Given the description of an element on the screen output the (x, y) to click on. 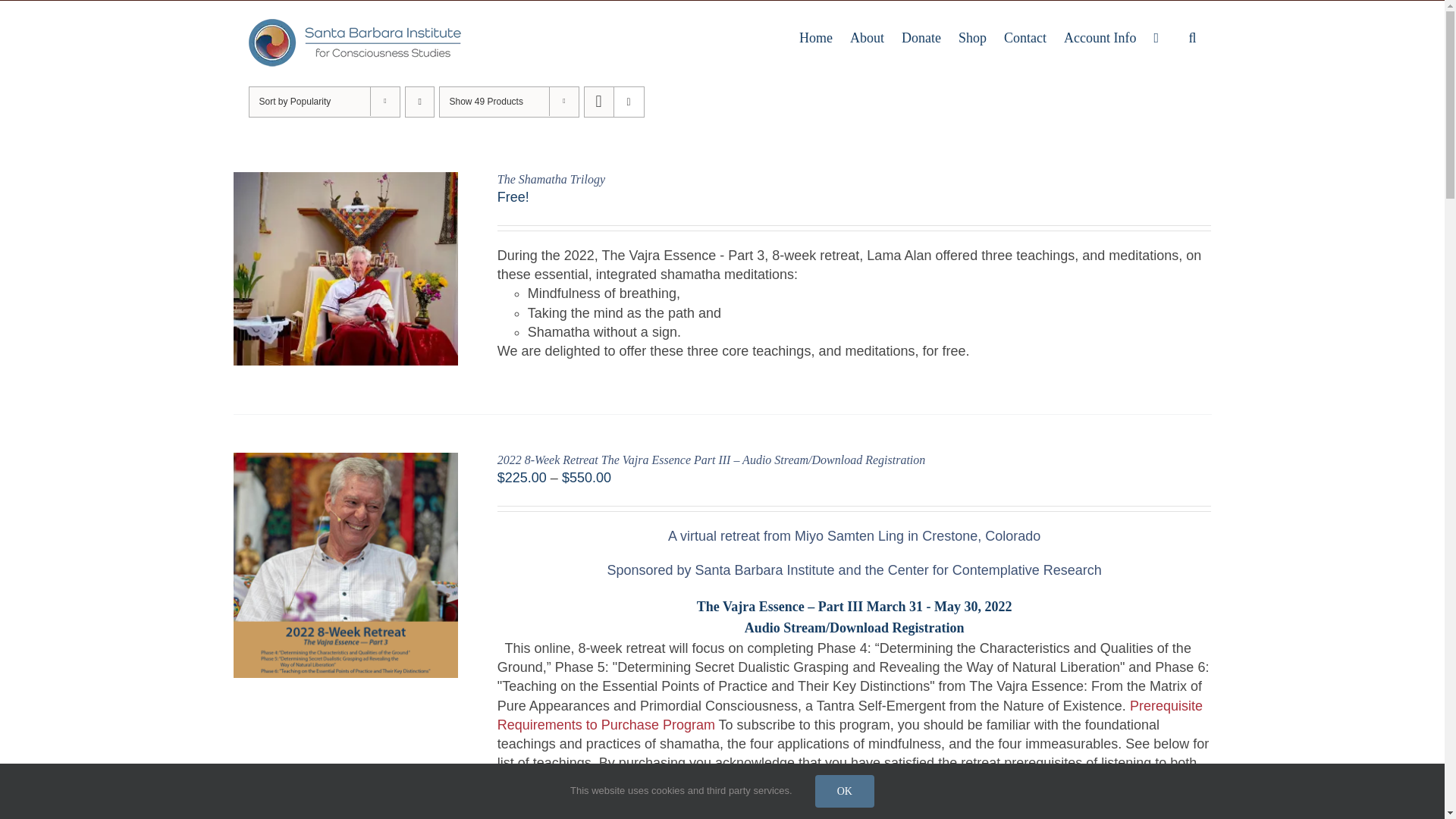
SBI-The Shamatha Trilogy 1 (345, 268)
Account Info (1099, 36)
Sort by Popularity (295, 101)
